Given the description of an element on the screen output the (x, y) to click on. 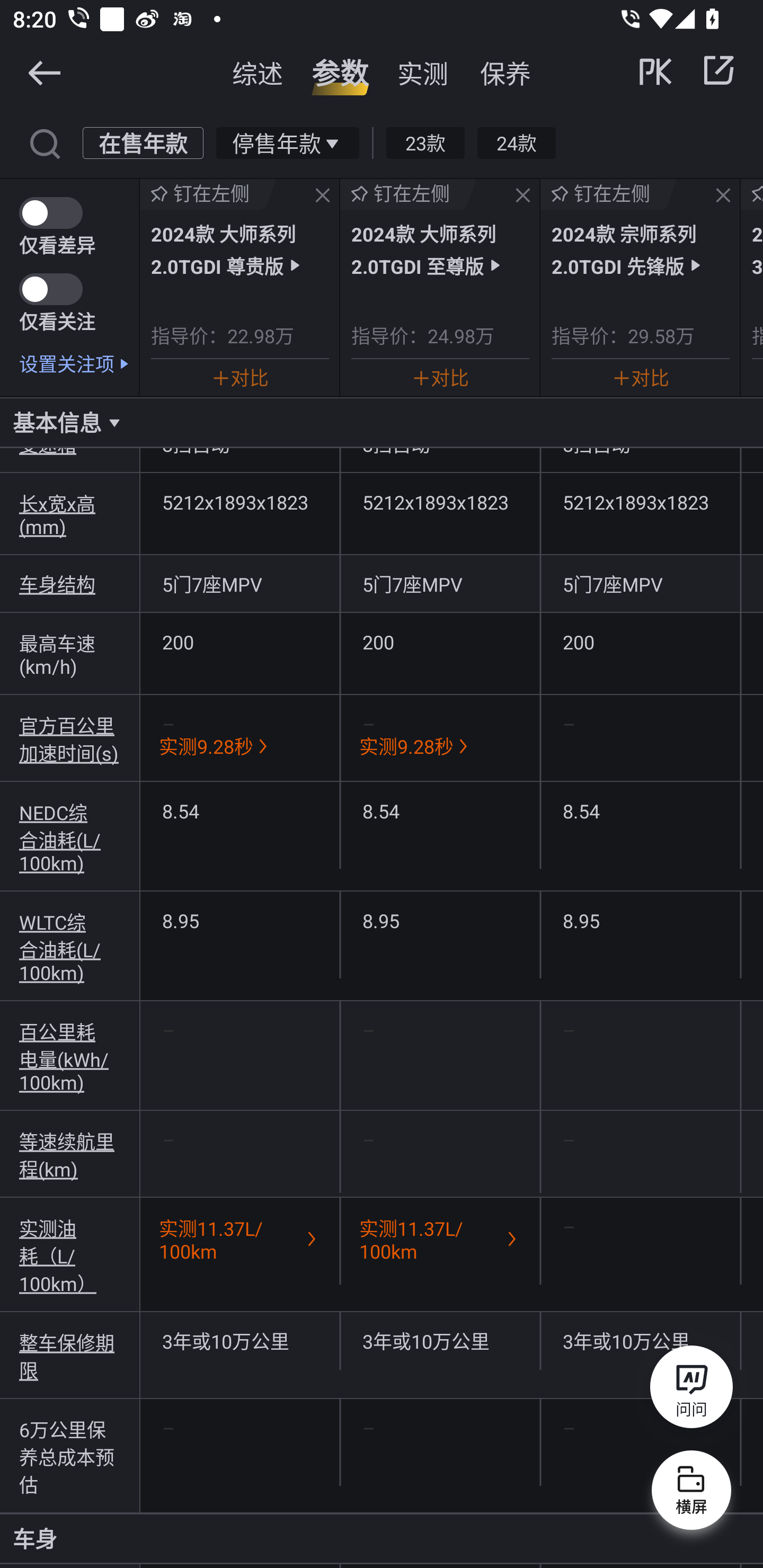
  (688, 70)
综述 (257, 72)
实测 (422, 72)
保养 (505, 72)
 (718, 70)
 (44, 71)
 (44, 142)
在售年款 (142, 142)
停售年款  (287, 142)
23款 (425, 142)
24款 (516, 142)
 钉在左侧 (207, 194)
 (322, 195)
 钉在左侧 (408, 194)
 (522, 195)
 钉在左侧 (608, 194)
 (722, 195)
2024款 大师系列 2.0TGDI 尊贵版  (239, 249)
2024款 大师系列 2.0TGDI 至尊版  (439, 249)
2024款 宗师系列 2.0TGDI 先锋版  (640, 249)
设置关注项  (79, 363)
对比 (239, 377)
对比 (440, 377)
对比 (640, 377)
基本信息  (381, 422)
5212x1893x1823 (239, 502)
5212x1893x1823 (440, 502)
5212x1893x1823 (640, 502)
长x宽x高(mm) (69, 514)
5门7座MPV (239, 584)
5门7座MPV (440, 584)
5门7座MPV (640, 584)
车身结构 (69, 583)
200 (239, 642)
200 (440, 642)
200 (640, 642)
最高车速(km/h) (69, 653)
官方百公里加速时间(s) (69, 738)
实测9.28秒  (239, 745)
实测9.28秒  (440, 745)
8.54 (239, 810)
8.54 (440, 810)
8.54 (640, 810)
NEDC综合油耗(L/100km) (69, 836)
8.95 (239, 920)
8.95 (440, 920)
8.95 (640, 920)
WLTC综合油耗(L/100km) (69, 945)
百公里耗电量(kWh/100km) (69, 1055)
等速续航里程(km) (69, 1154)
实测油耗（L/100km） (69, 1254)
实测11.37L/100km  (239, 1238)
实测11.37L/100km  (440, 1238)
3年或10万公里 (239, 1341)
3年或10万公里 (440, 1341)
3年或10万公里 (640, 1341)
整车保修期限 (69, 1355)
 问问 (691, 1389)
6万公里保养总成本预估 (69, 1455)
